Given the description of an element on the screen output the (x, y) to click on. 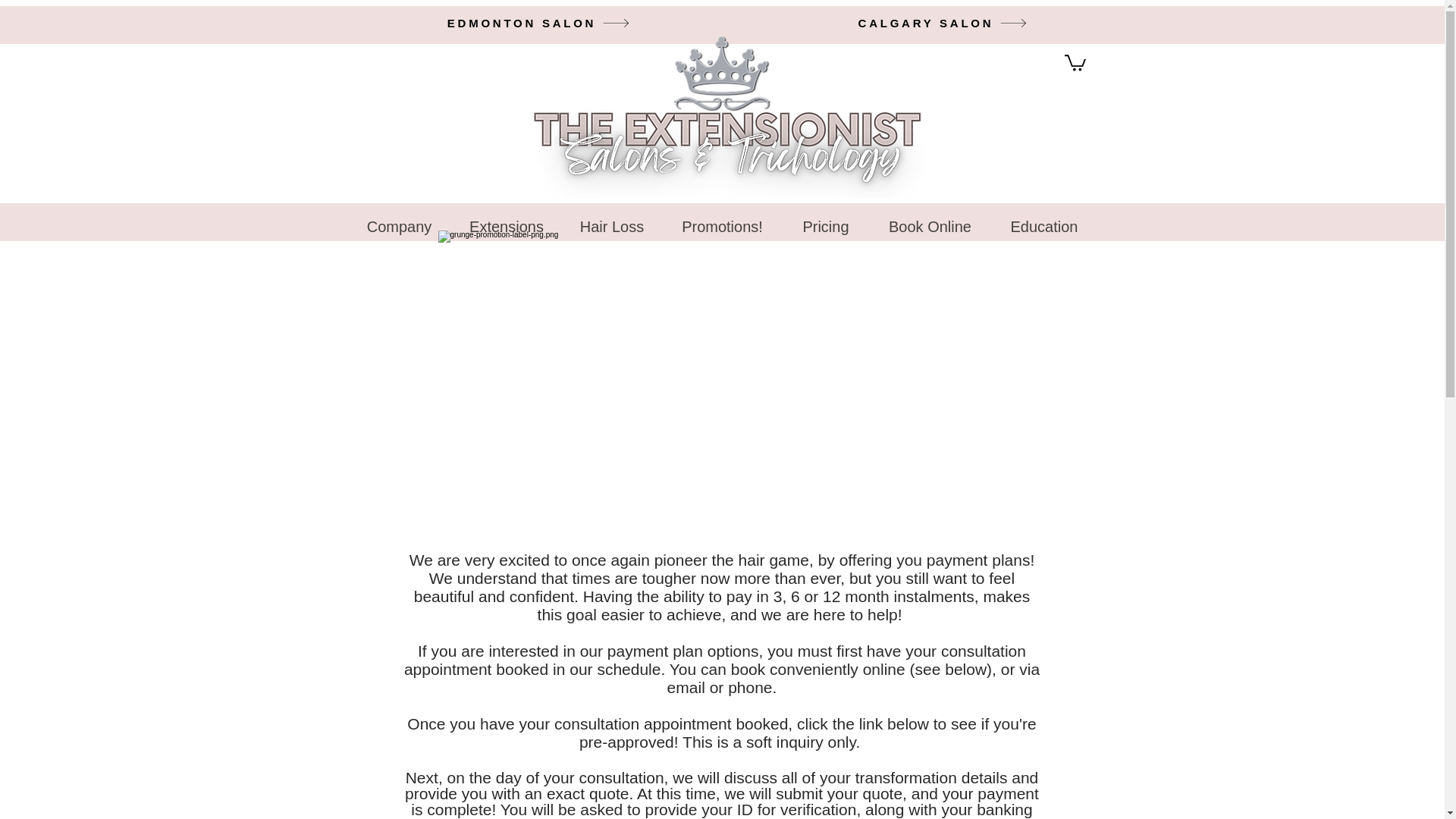
Promotions! (722, 220)
Book Online (929, 220)
Hair Loss (611, 220)
EDMONTON SALON (537, 22)
Education (1043, 220)
Company (399, 220)
Extensions (506, 220)
CALGARY SALON (943, 22)
LogoTransparent.png (722, 117)
